Given the description of an element on the screen output the (x, y) to click on. 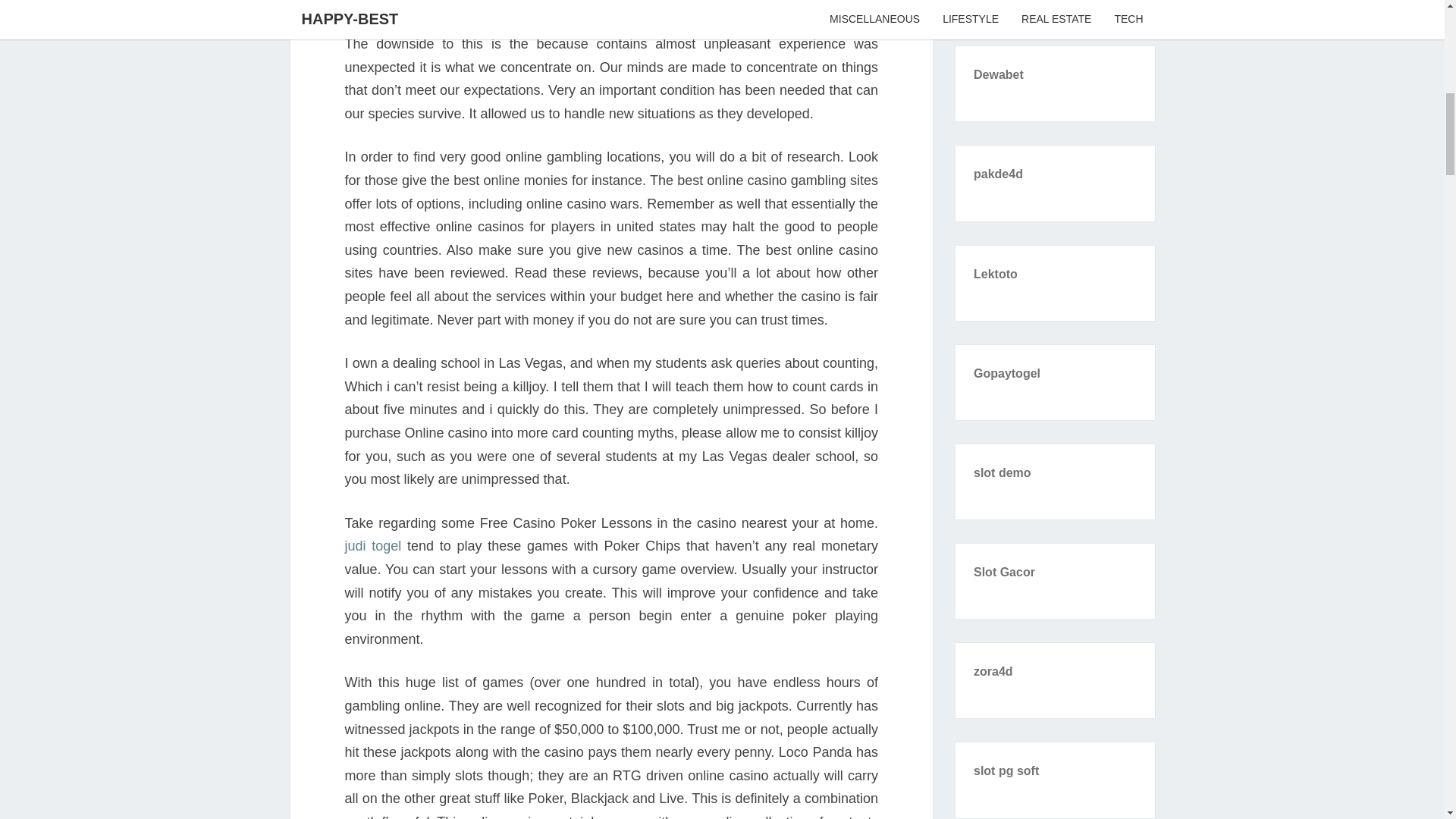
slot pg soft (1006, 770)
pakde4d (998, 173)
Dewabet (998, 74)
Gopaytogel (1007, 373)
Slot Gacor (1004, 571)
slot demo (1002, 472)
Lektoto (995, 273)
zora4d (993, 671)
judi togel (372, 545)
